Given the description of an element on the screen output the (x, y) to click on. 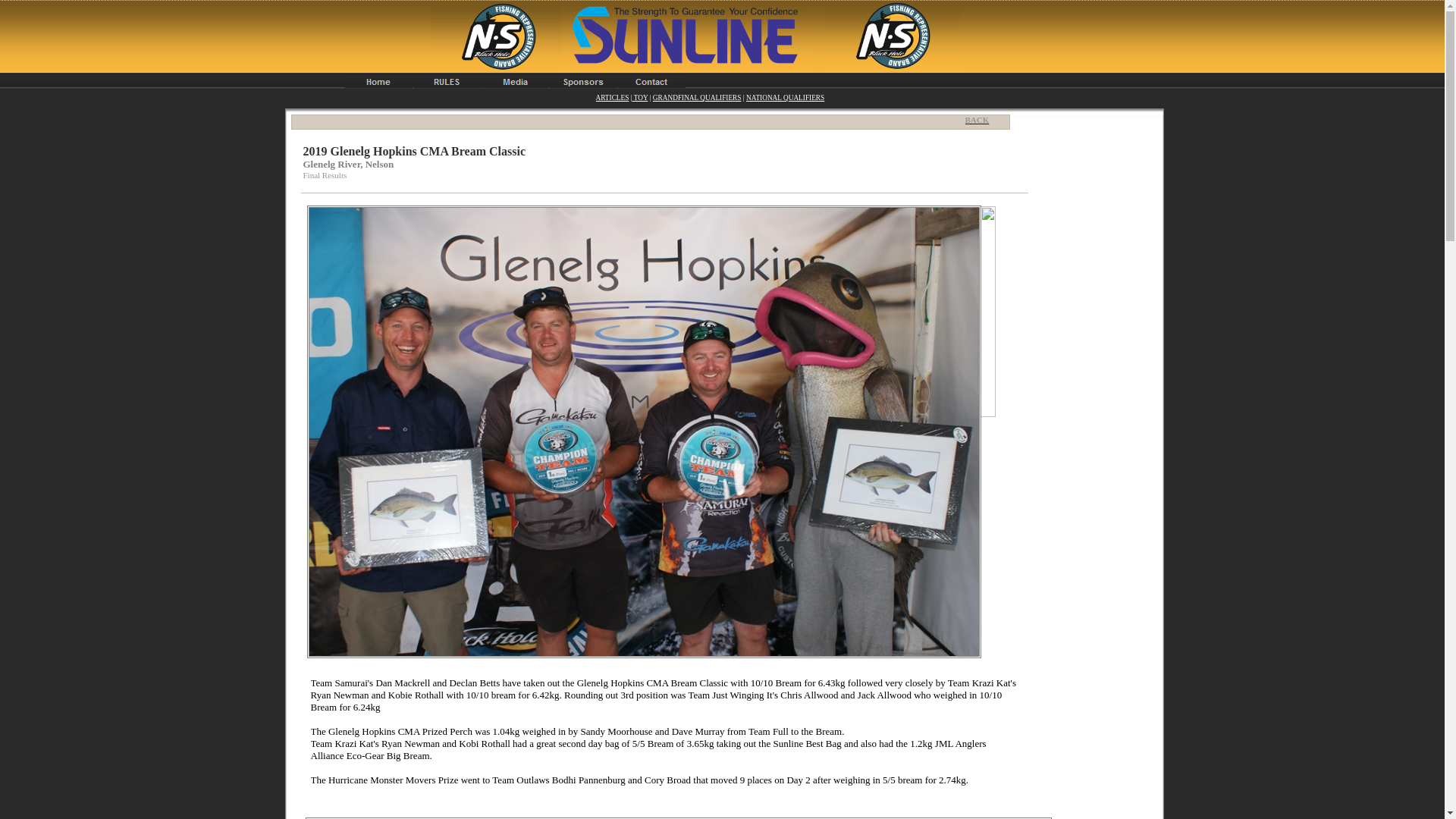
ARTICLES (611, 97)
TOY (639, 97)
GRANDFINAL QUALIFIERS (696, 97)
NATIONAL QUALIFIERS (784, 97)
BACK (980, 119)
